Given the description of an element on the screen output the (x, y) to click on. 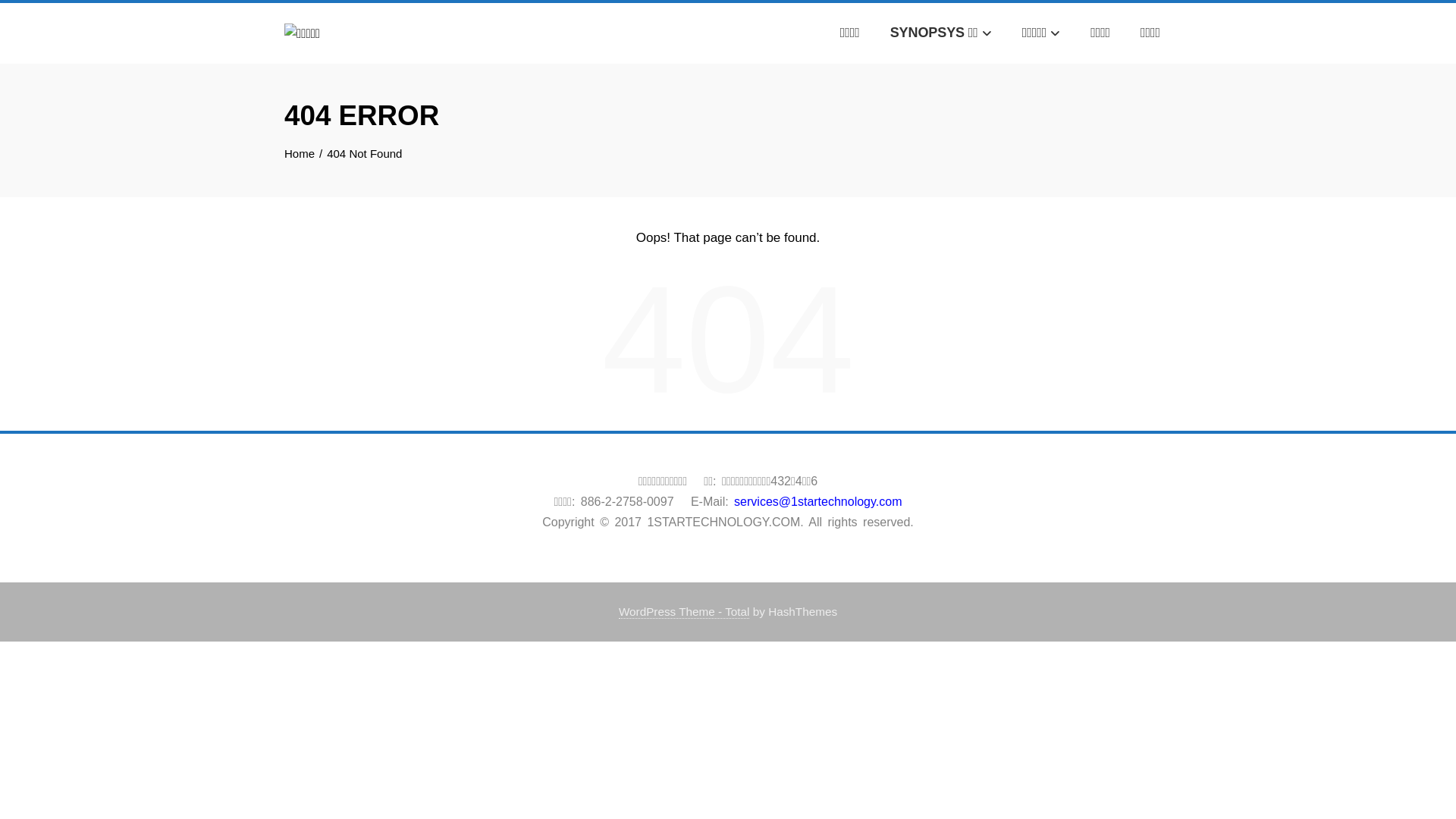
Home Element type: text (299, 153)
services@1startechnology.com Element type: text (815, 500)
WordPress Theme - Total Element type: text (683, 611)
